Given the description of an element on the screen output the (x, y) to click on. 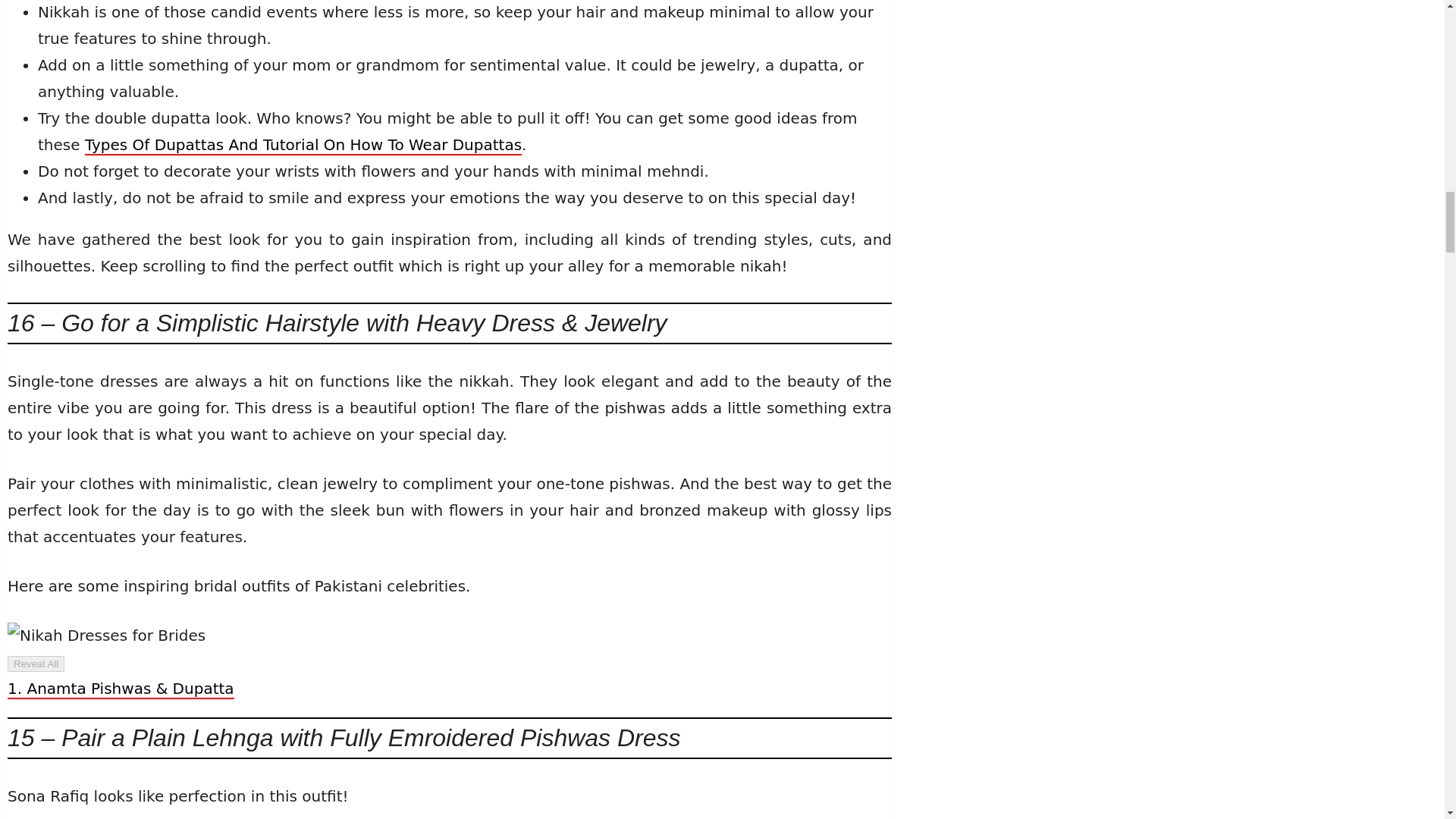
17 Types Of Dupattas And Tutorial On How To Wear Dupattas (302, 145)
